Given the description of an element on the screen output the (x, y) to click on. 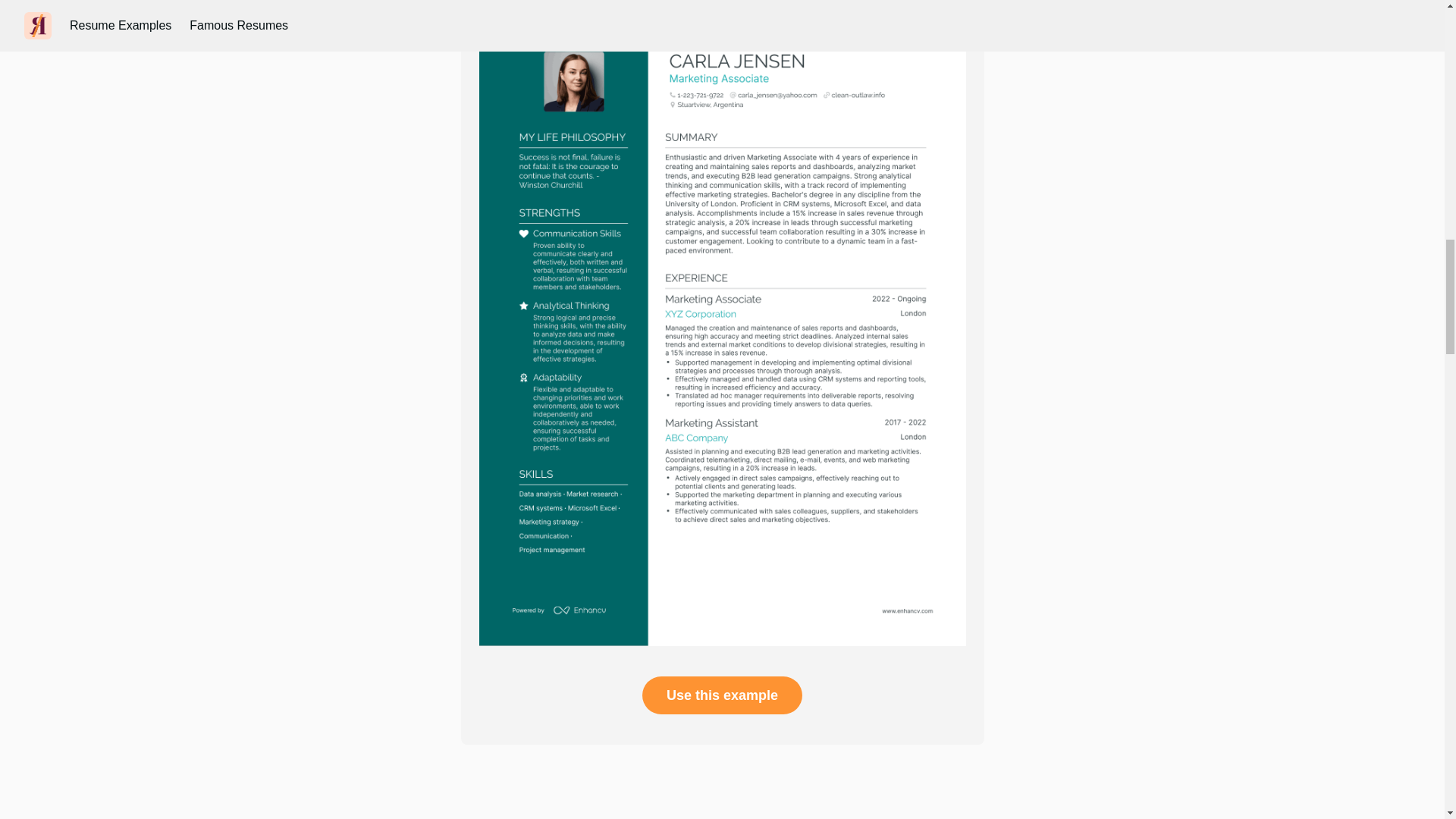
Use this example (722, 695)
